Given the description of an element on the screen output the (x, y) to click on. 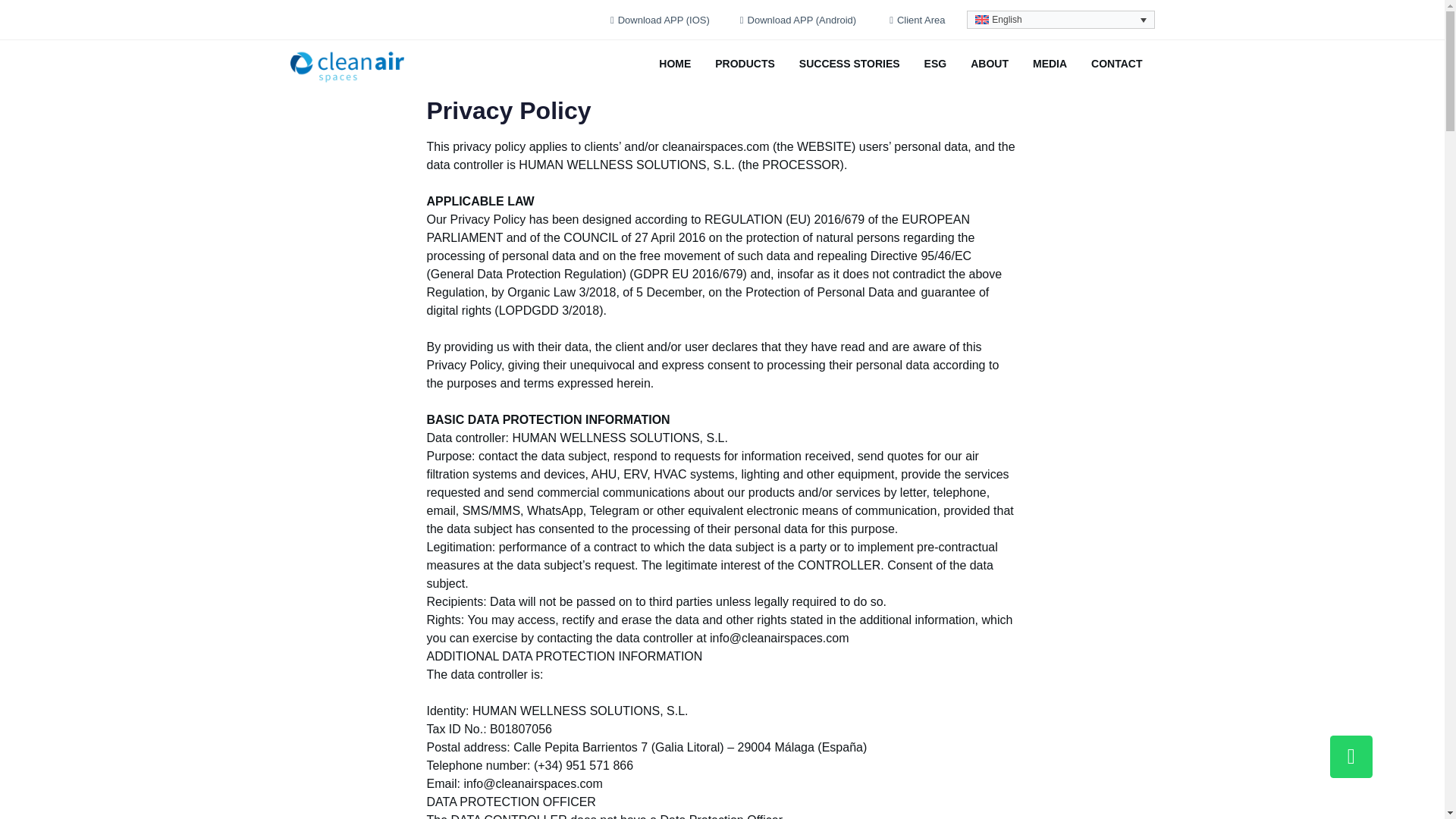
SUCCESS STORIES (849, 62)
CONTACT (1116, 62)
Client Area (917, 19)
ABOUT (989, 62)
English (1060, 19)
ESG (935, 62)
MEDIA (1049, 62)
HOME (674, 62)
PRODUCTS (745, 62)
